Given the description of an element on the screen output the (x, y) to click on. 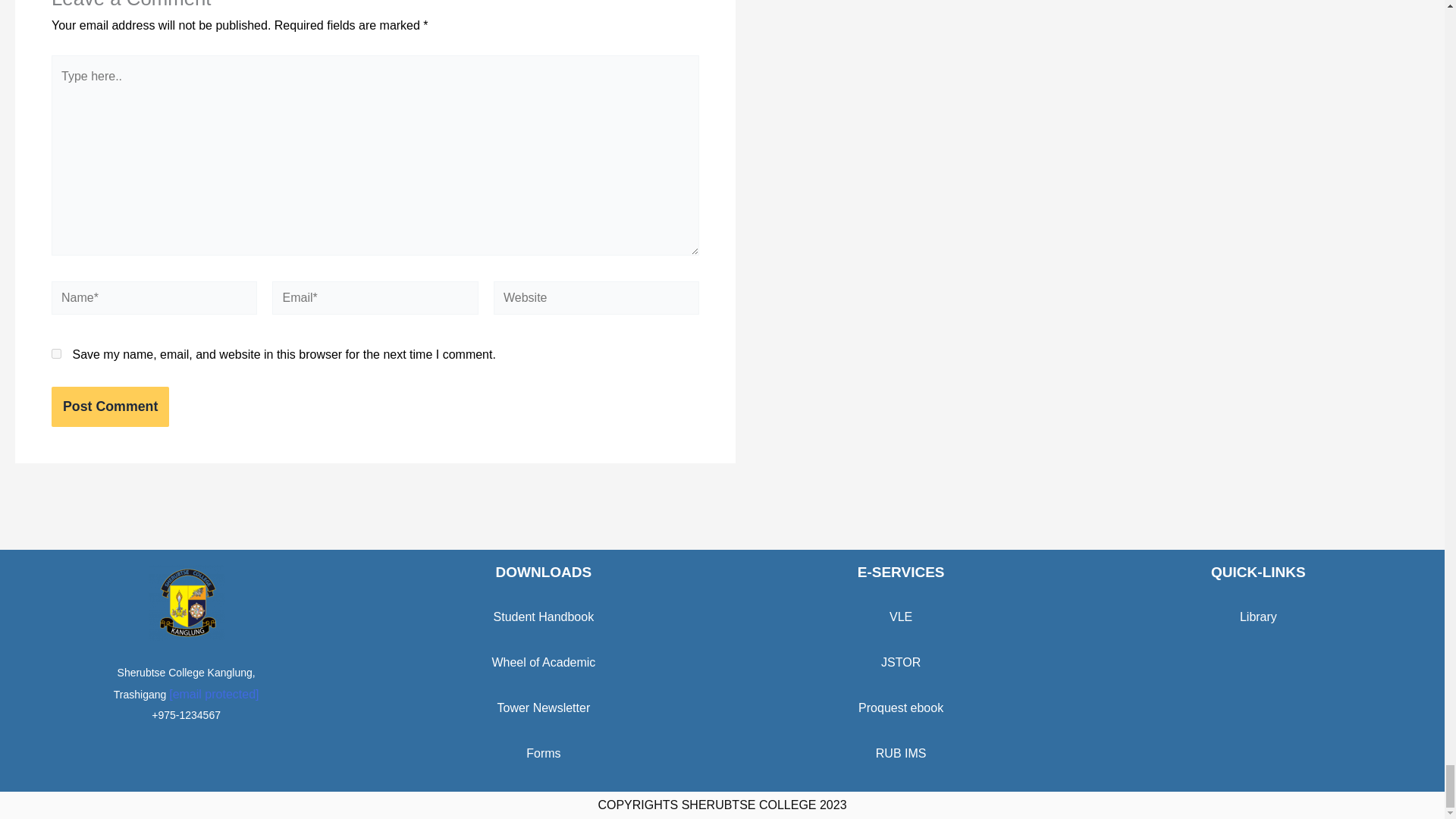
Post Comment (109, 406)
yes (55, 353)
